Given the description of an element on the screen output the (x, y) to click on. 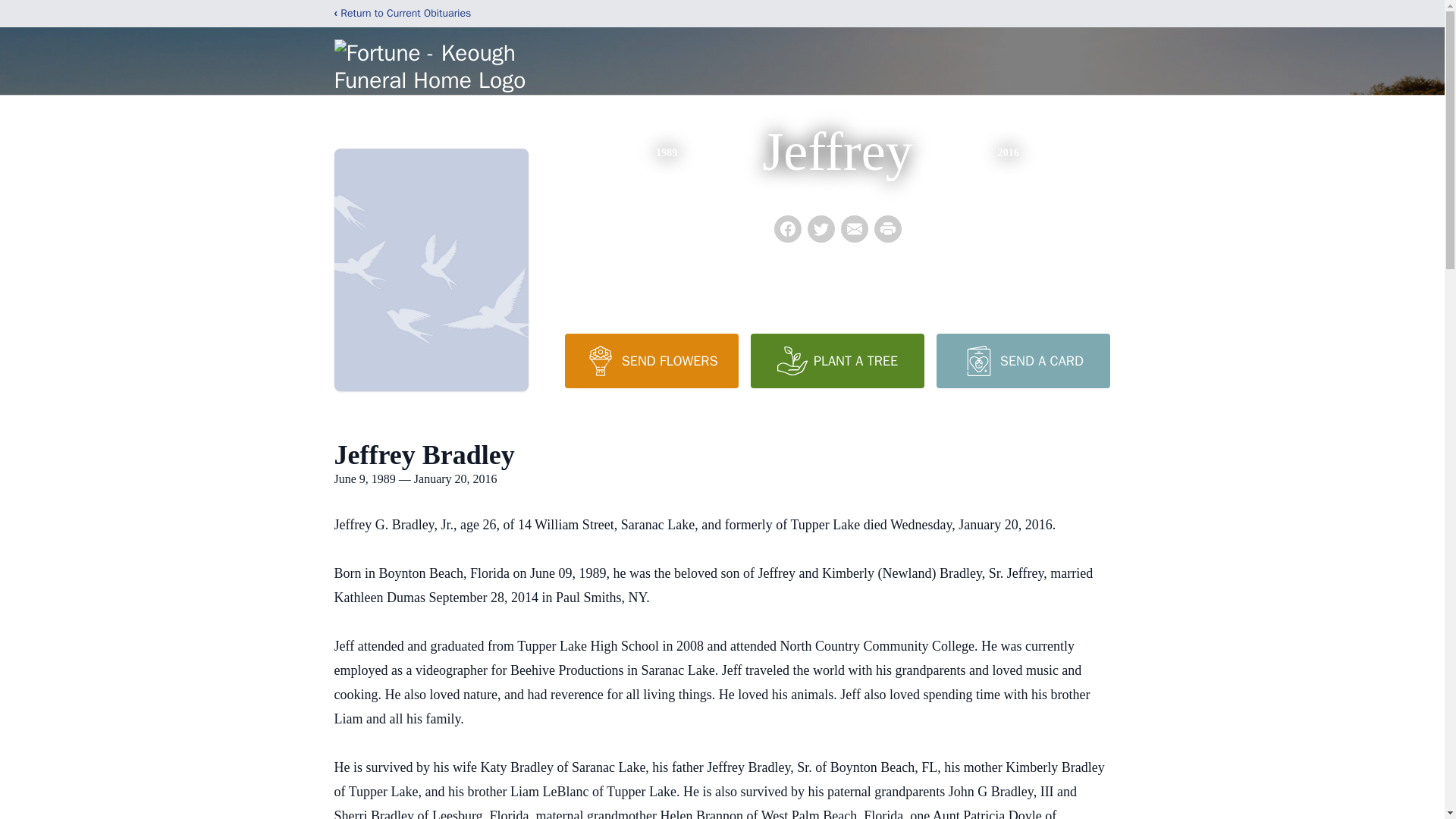
PLANT A TREE (837, 360)
SEND A CARD (1022, 360)
SEND FLOWERS (651, 360)
